Given the description of an element on the screen output the (x, y) to click on. 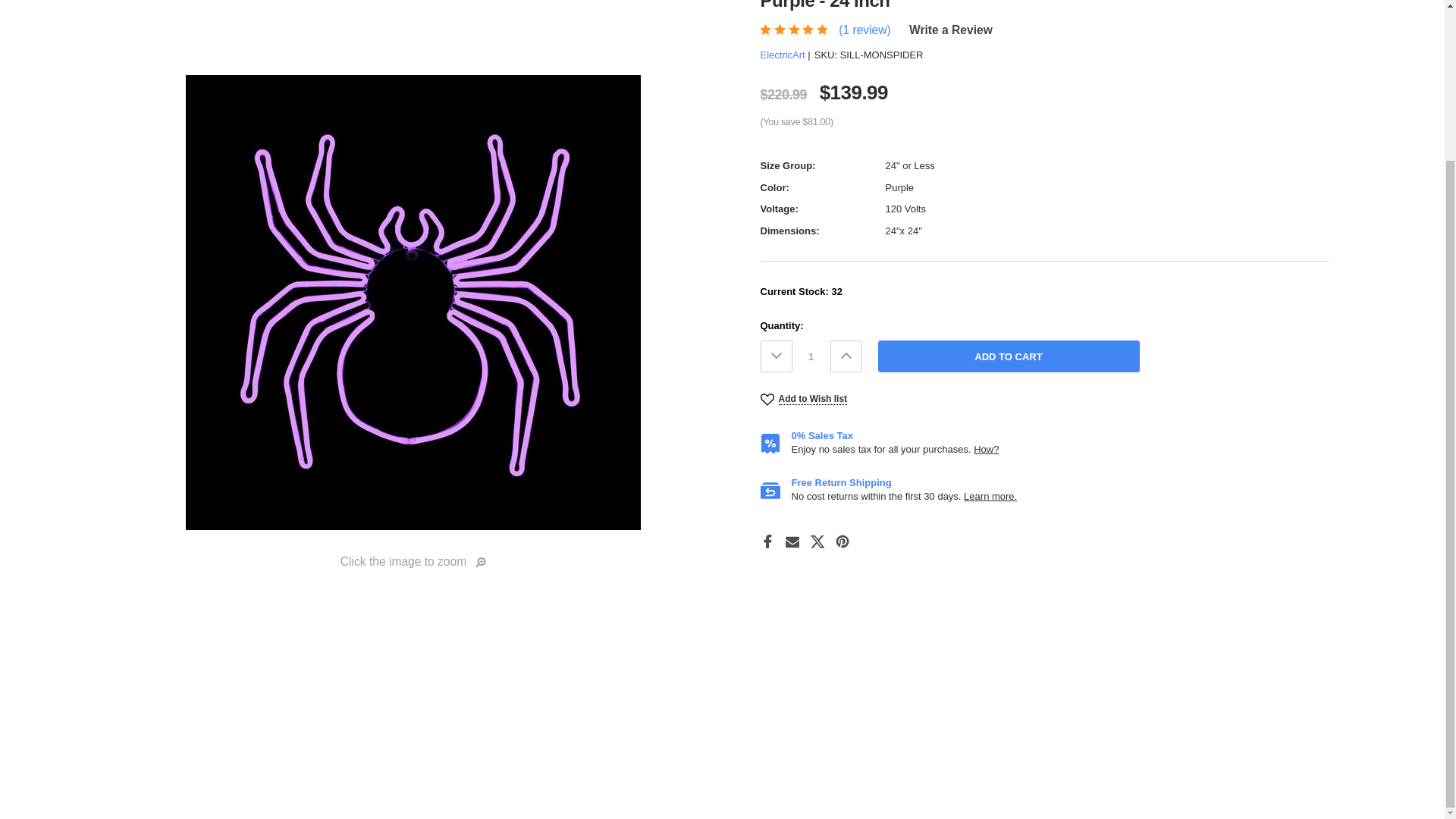
Pinterest (842, 541)
X (817, 541)
Add to Cart (1008, 356)
Email (792, 541)
1 (810, 356)
Facebook (767, 541)
